Given the description of an element on the screen output the (x, y) to click on. 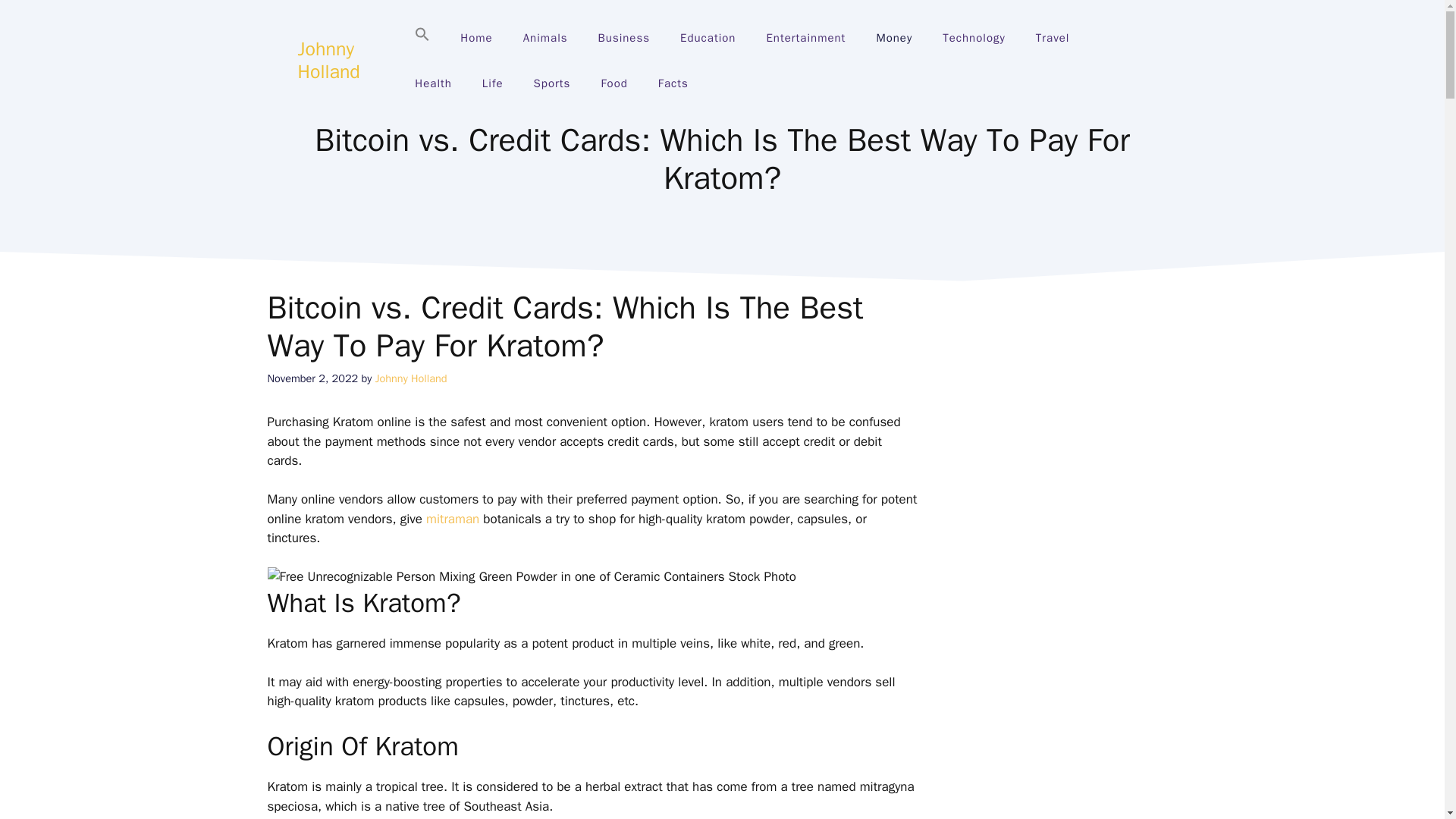
mitraman (452, 519)
Johnny Holland (410, 377)
Health (432, 83)
Entertainment (805, 37)
Education (708, 37)
Home (475, 37)
View all posts by Johnny Holland (410, 377)
Food (613, 83)
Travel (1052, 37)
Facts (673, 83)
Animals (545, 37)
Johnny Holland (328, 59)
Life (492, 83)
Money (893, 37)
Business (624, 37)
